Given the description of an element on the screen output the (x, y) to click on. 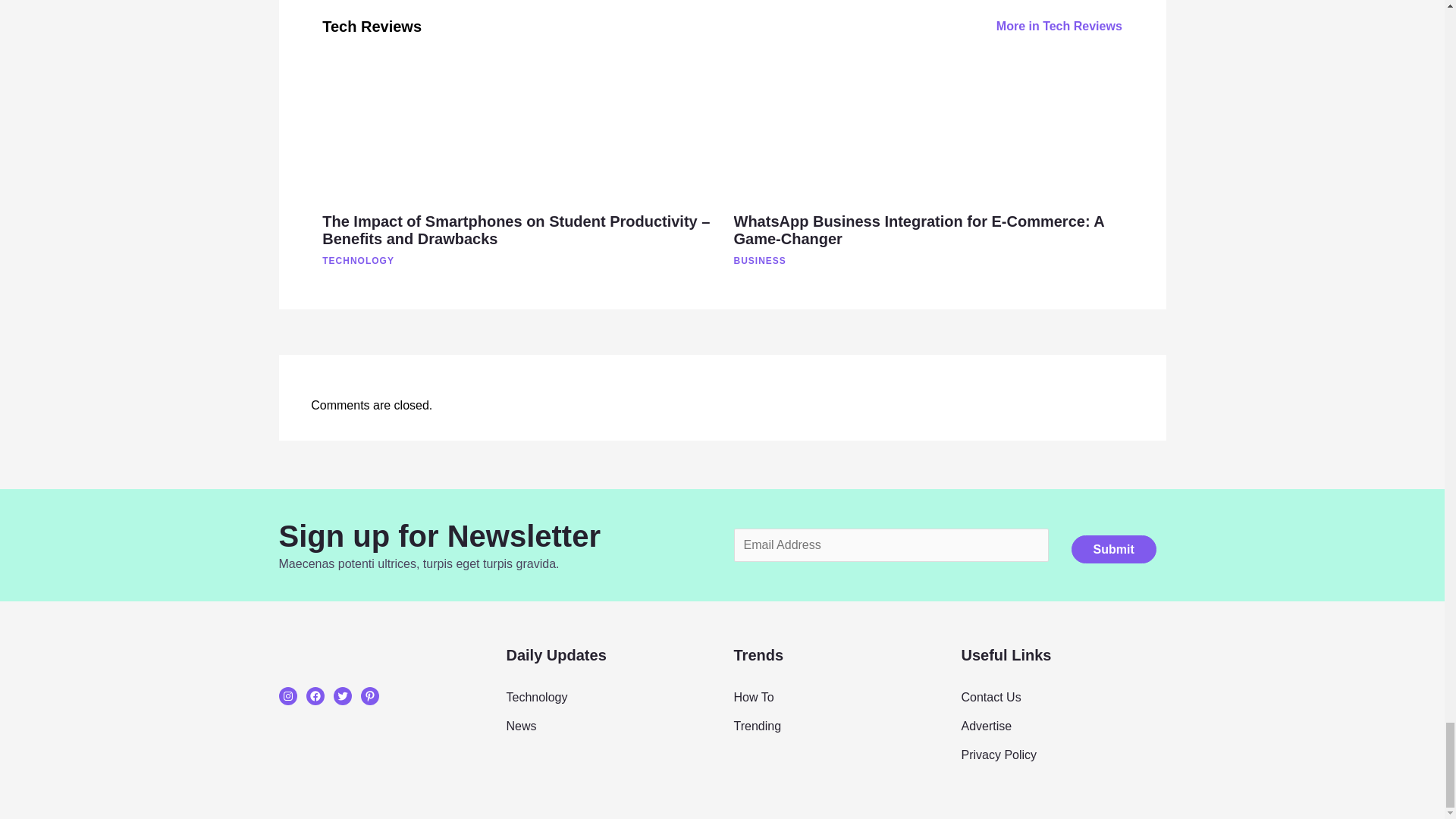
More in Tech Reviews (1058, 26)
TECHNOLOGY (413, 260)
Submit (1113, 549)
